Given the description of an element on the screen output the (x, y) to click on. 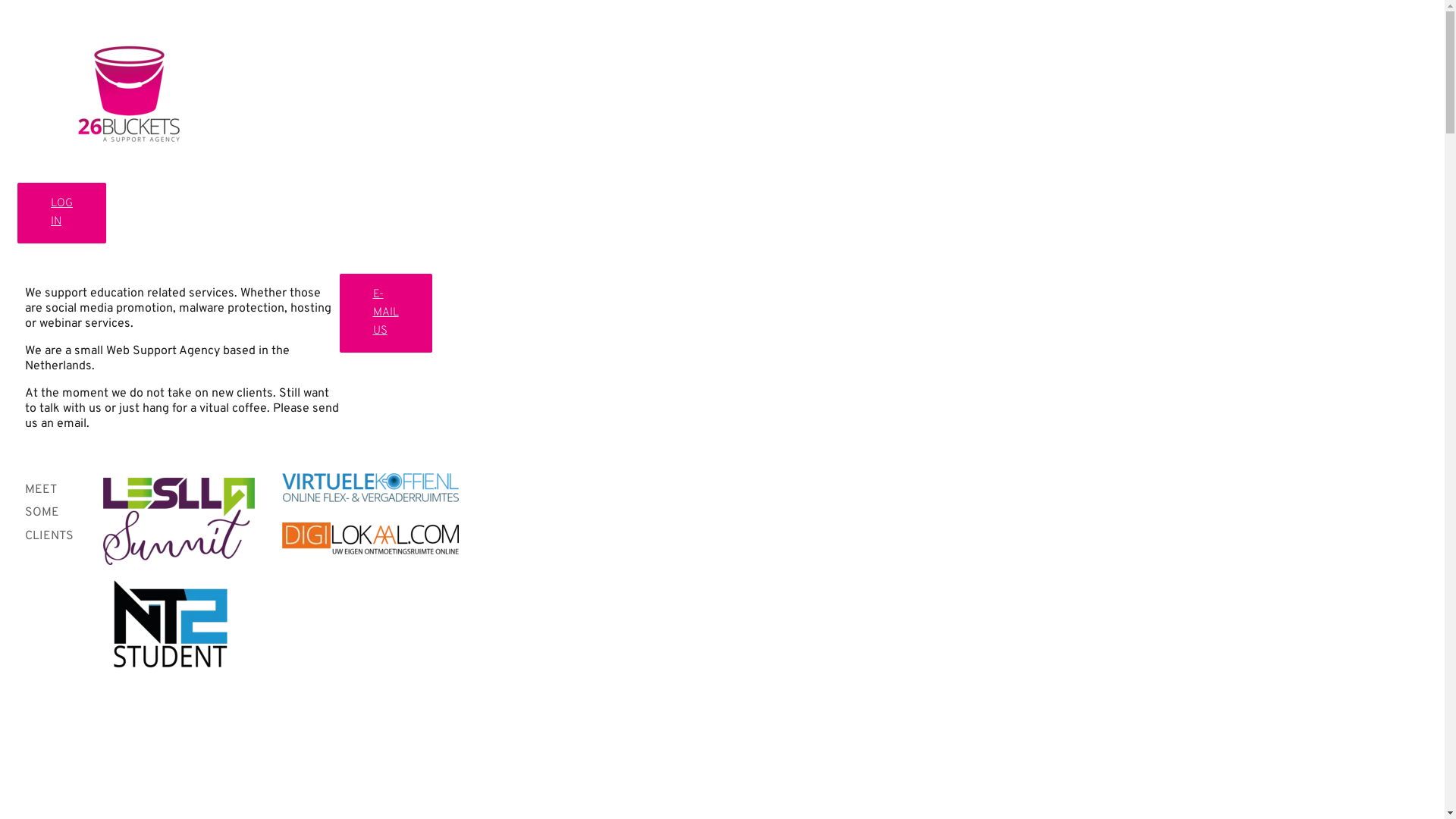
E-MAIL US Element type: text (385, 312)
LOG IN Element type: text (61, 212)
